Given the description of an element on the screen output the (x, y) to click on. 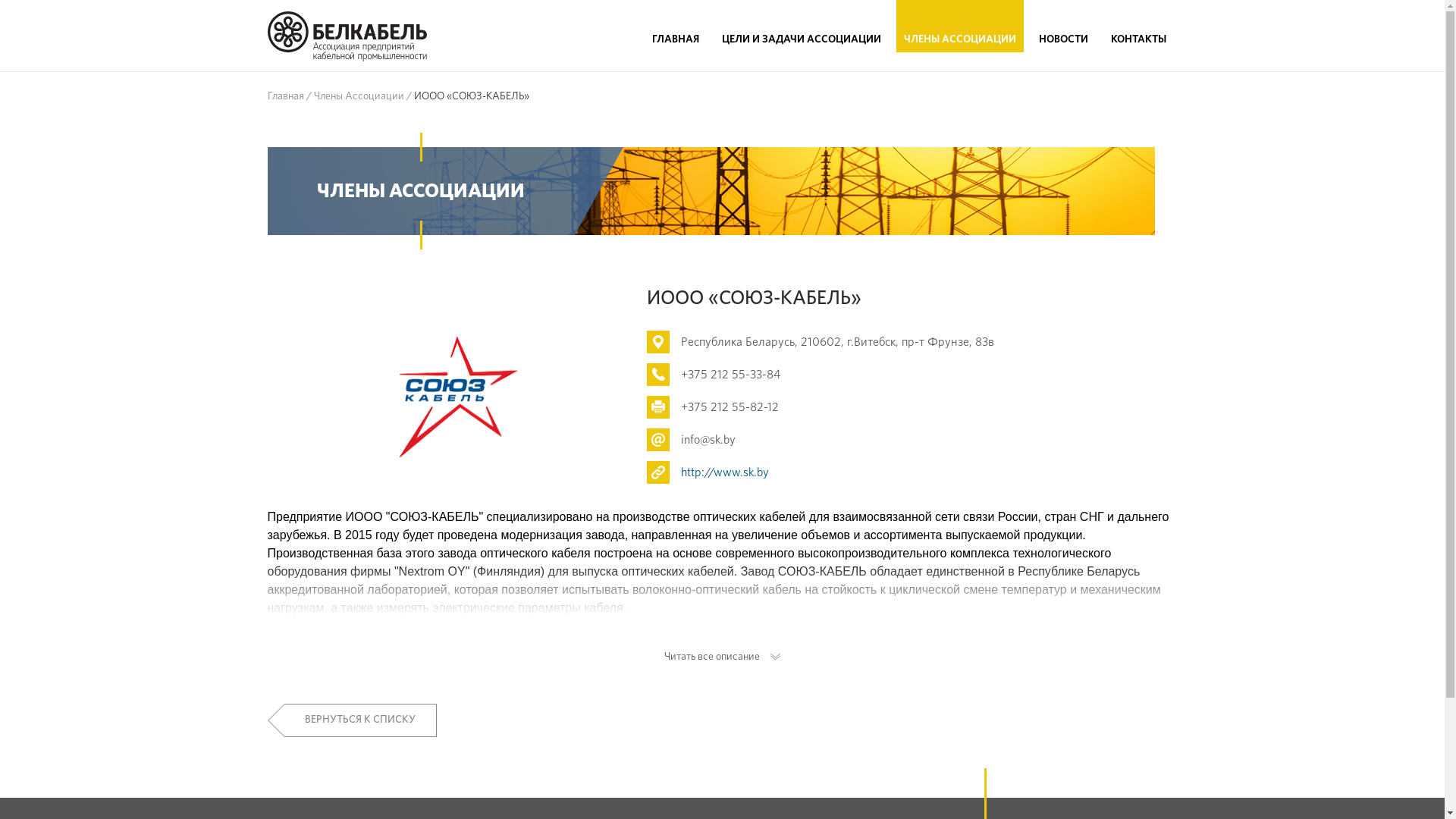
http://www.sk.by Element type: text (724, 472)
